Given the description of an element on the screen output the (x, y) to click on. 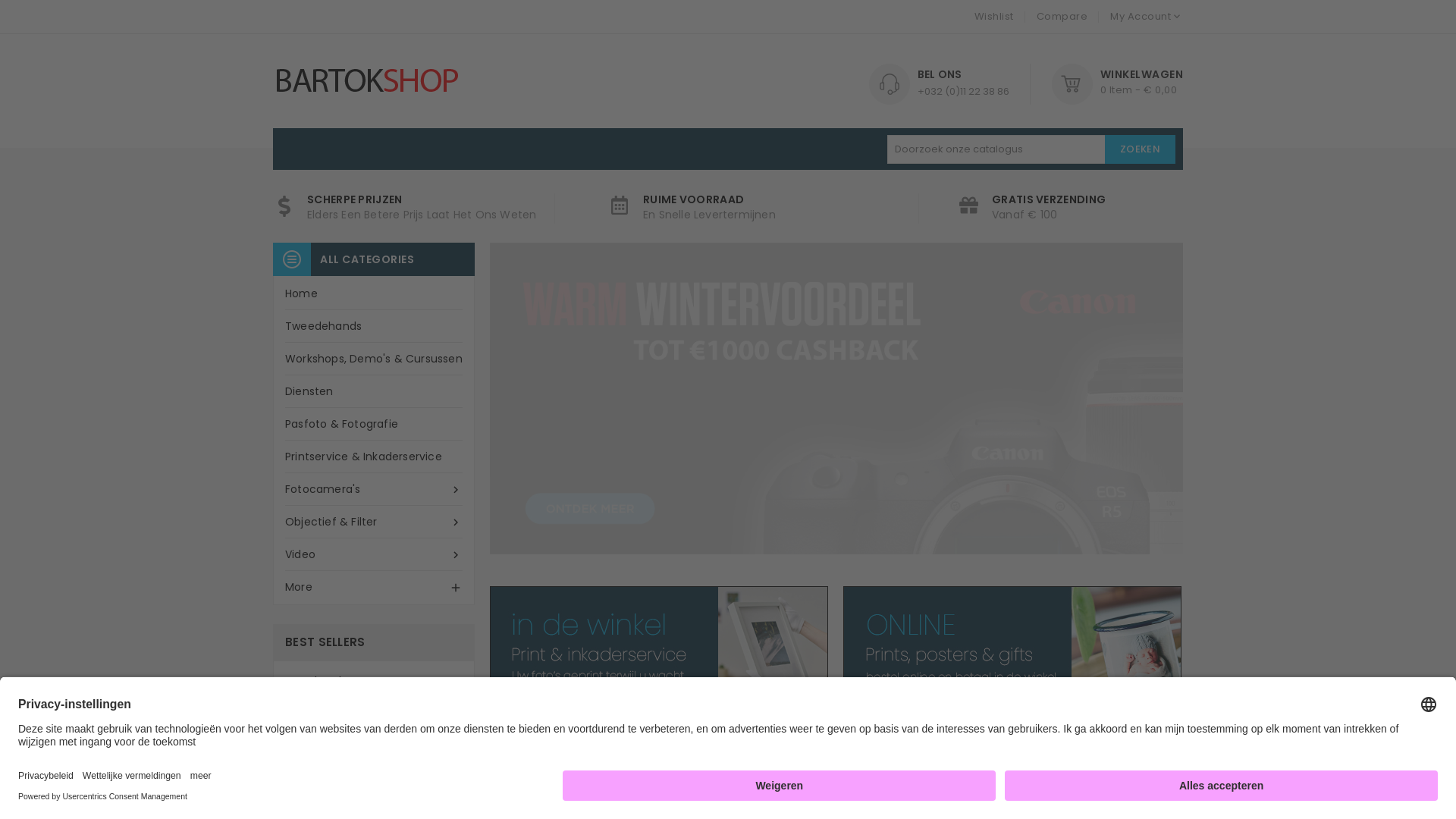
BEST SELLERS Element type: text (850, 731)
Wishlist Element type: text (993, 16)
  Element type: text (1171, 726)
Home Element type: text (373, 293)
Compare Element type: text (1061, 16)
FEATURED PRODUCTS Element type: text (571, 731)
Pasfoto & Fotografie Element type: text (373, 423)
NEW PRODUCTS Element type: text (723, 731)
ZOEKEN Element type: text (1139, 148)
Diensten Element type: text (373, 391)
Printservice & Inkaderservice Element type: text (373, 456)
Workshops, Demo'S & Cursussen Element type: text (373, 358)
  Element type: text (1144, 726)
Tweedehands Element type: text (373, 326)
Nikon FTZ II Mount Adapter Element type: text (403, 741)
Cadeaubon Element type: text (327, 680)
